Given the description of an element on the screen output the (x, y) to click on. 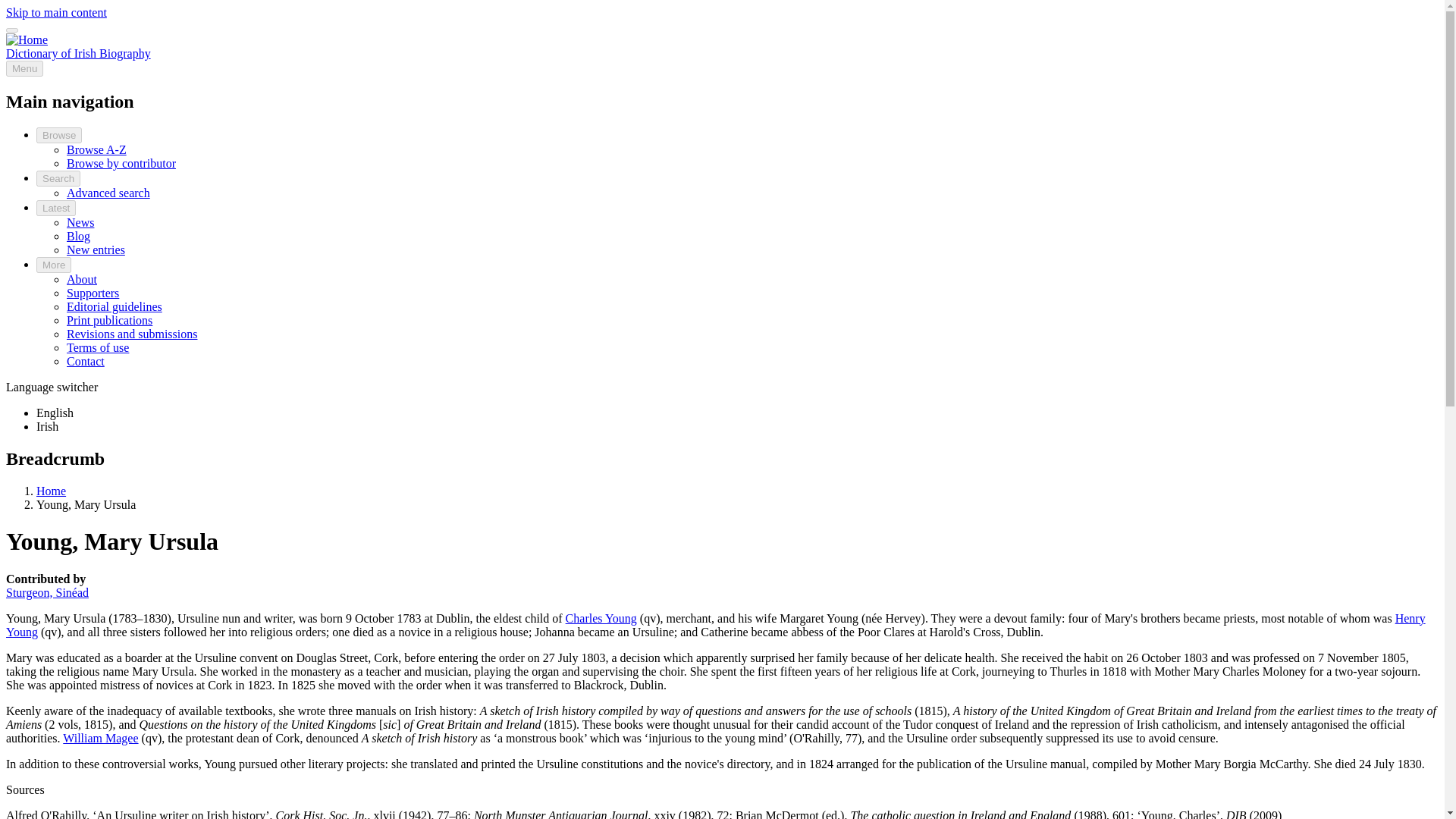
How to request revisions or new biographies  (131, 333)
About (81, 278)
Henry Young (715, 624)
Browse A-Z (96, 149)
The latest biographies added to the corpus (95, 249)
Revisions and submissions (131, 333)
Home (50, 490)
Browse by contributor (121, 163)
Browse biographies (58, 135)
